Given the description of an element on the screen output the (x, y) to click on. 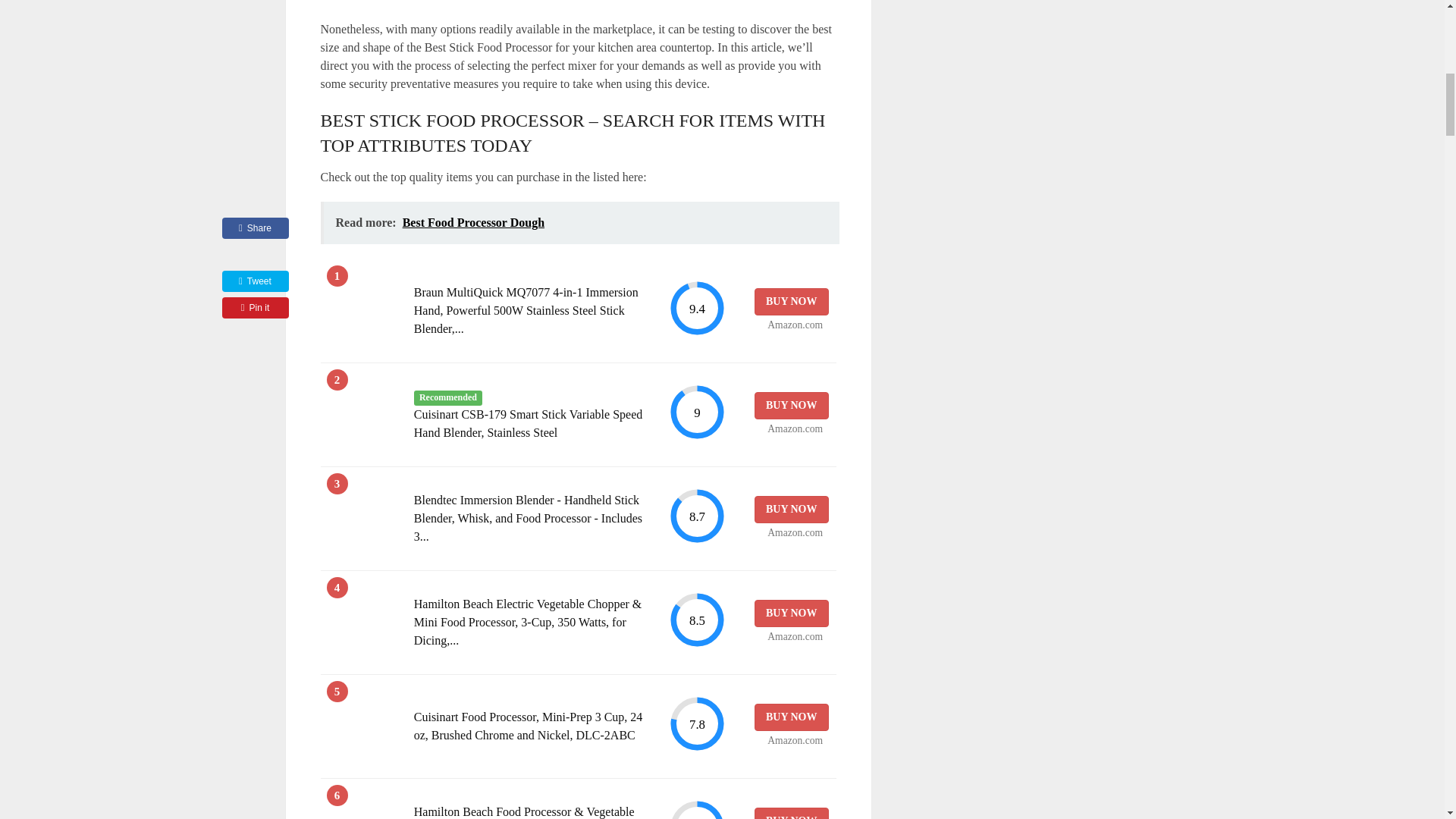
7.8 (696, 723)
8.5 (696, 619)
9.4 (696, 308)
7.7 (696, 809)
8.7 (696, 515)
9 (696, 412)
